Given the description of an element on the screen output the (x, y) to click on. 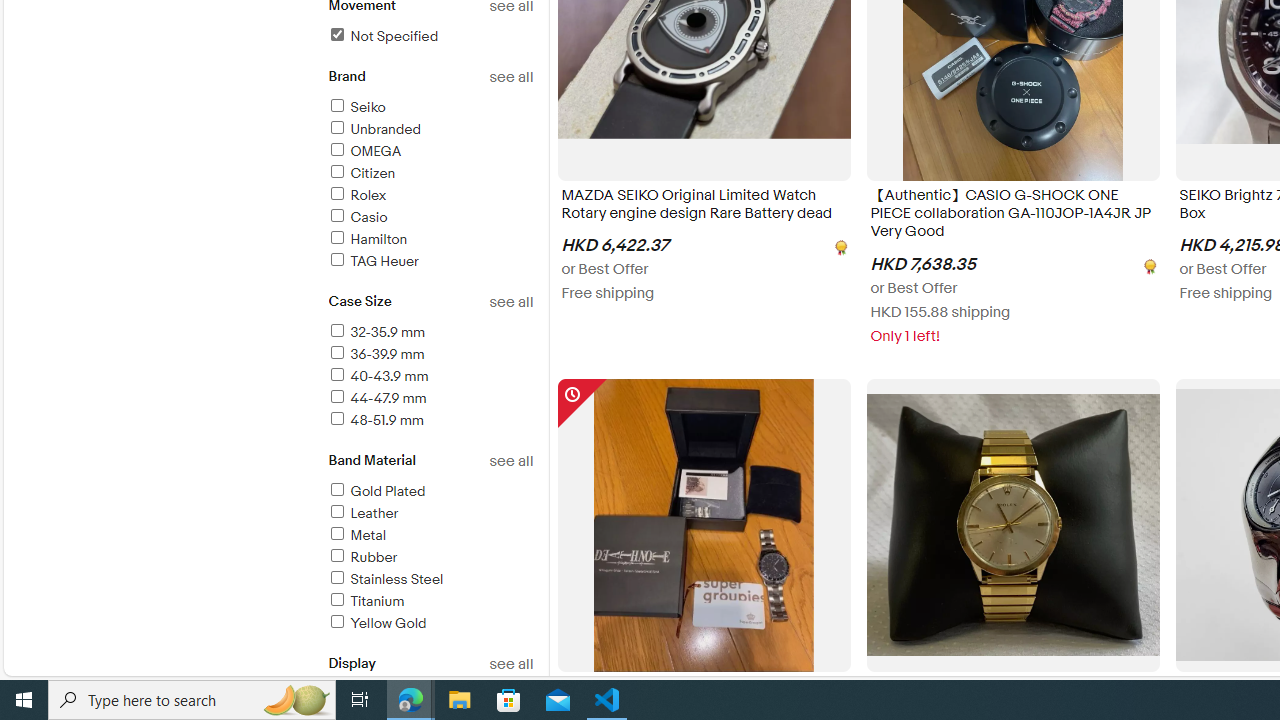
44-47.9 mm (376, 398)
32-35.9 mm (430, 333)
Unbranded (374, 129)
Yellow Gold (430, 624)
36-39.9 mm (430, 355)
See all case size refinements (510, 302)
Casio (356, 217)
Rolex (430, 196)
Stainless Steel (430, 579)
OMEGA (363, 151)
40-43.9 mm (430, 377)
Yellow Gold (376, 623)
Hamilton (367, 239)
Unbranded (430, 129)
Not SpecifiedFilter Applied (430, 37)
